Given the description of an element on the screen output the (x, y) to click on. 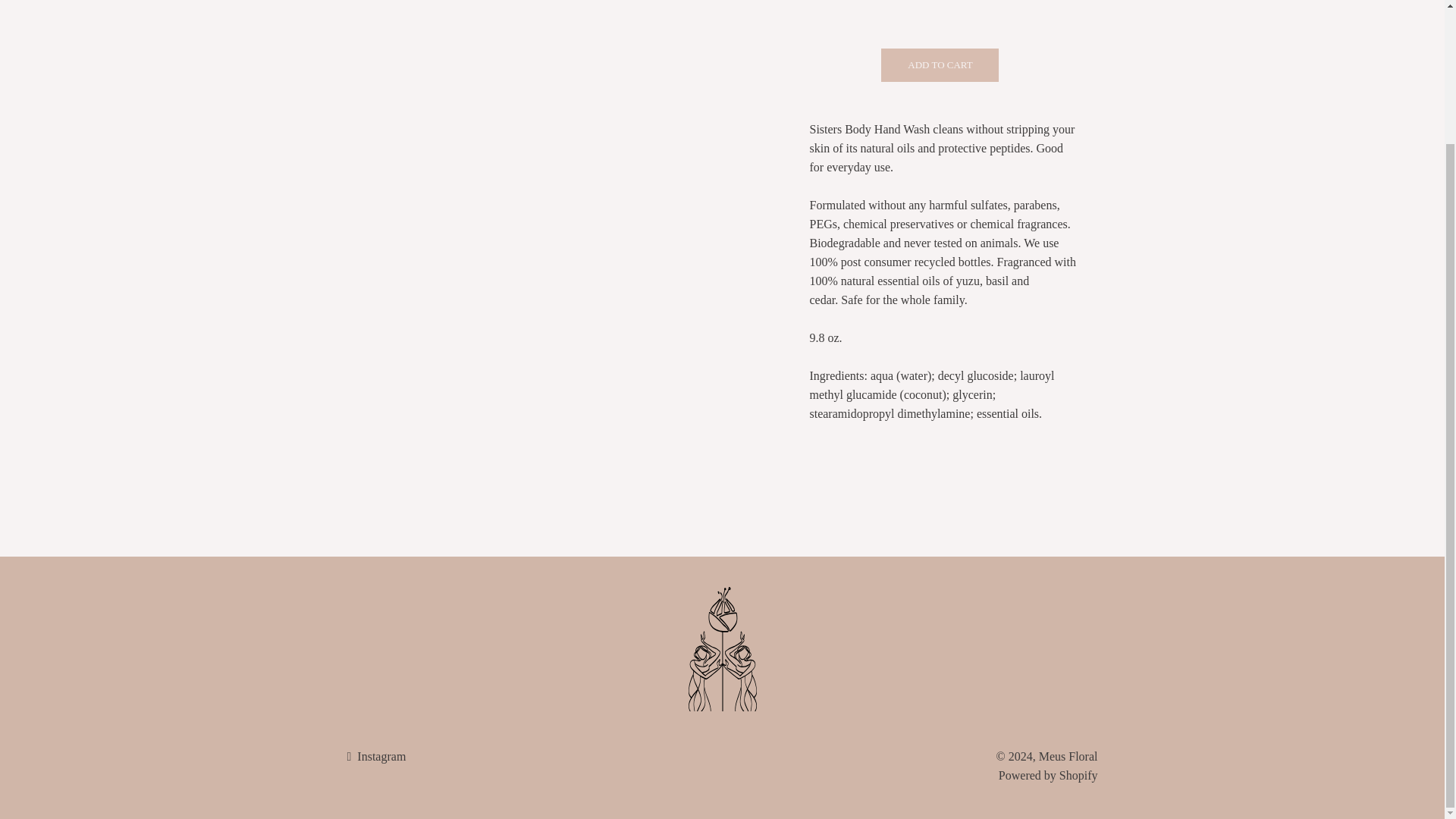
ADD TO CART (939, 64)
Powered by Shopify (1047, 775)
Meus Floral on Instagram (376, 756)
Meus Floral (1068, 756)
Instagram (376, 756)
